Given the description of an element on the screen output the (x, y) to click on. 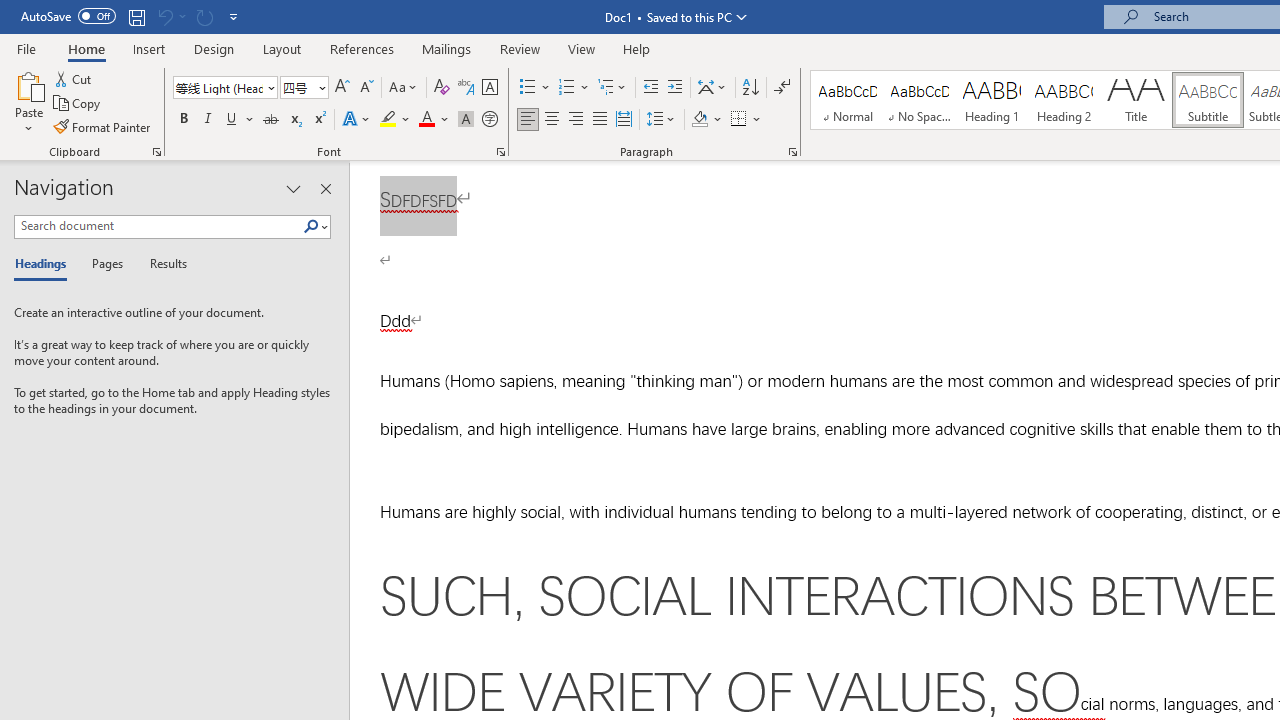
Can't Repeat (204, 15)
